Given the description of an element on the screen output the (x, y) to click on. 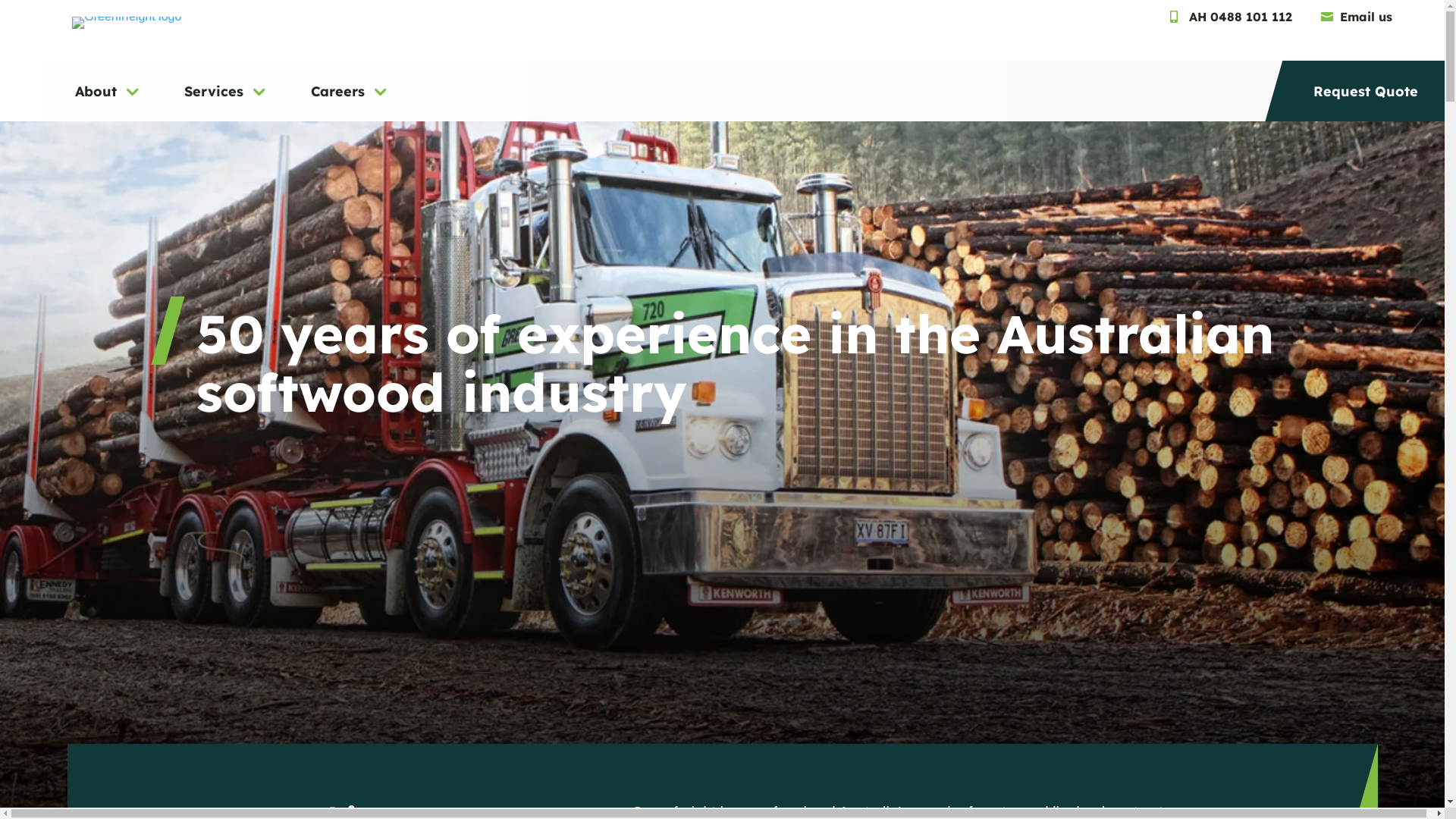
Careers Element type: text (350, 99)
Email us Element type: text (1357, 17)
Request Quote Element type: text (1365, 99)
greenfreight-logo Element type: hover (126, 22)
AH 0488 101 112 Element type: text (1232, 17)
About Element type: text (108, 99)
Services Element type: text (226, 99)
